Given the description of an element on the screen output the (x, y) to click on. 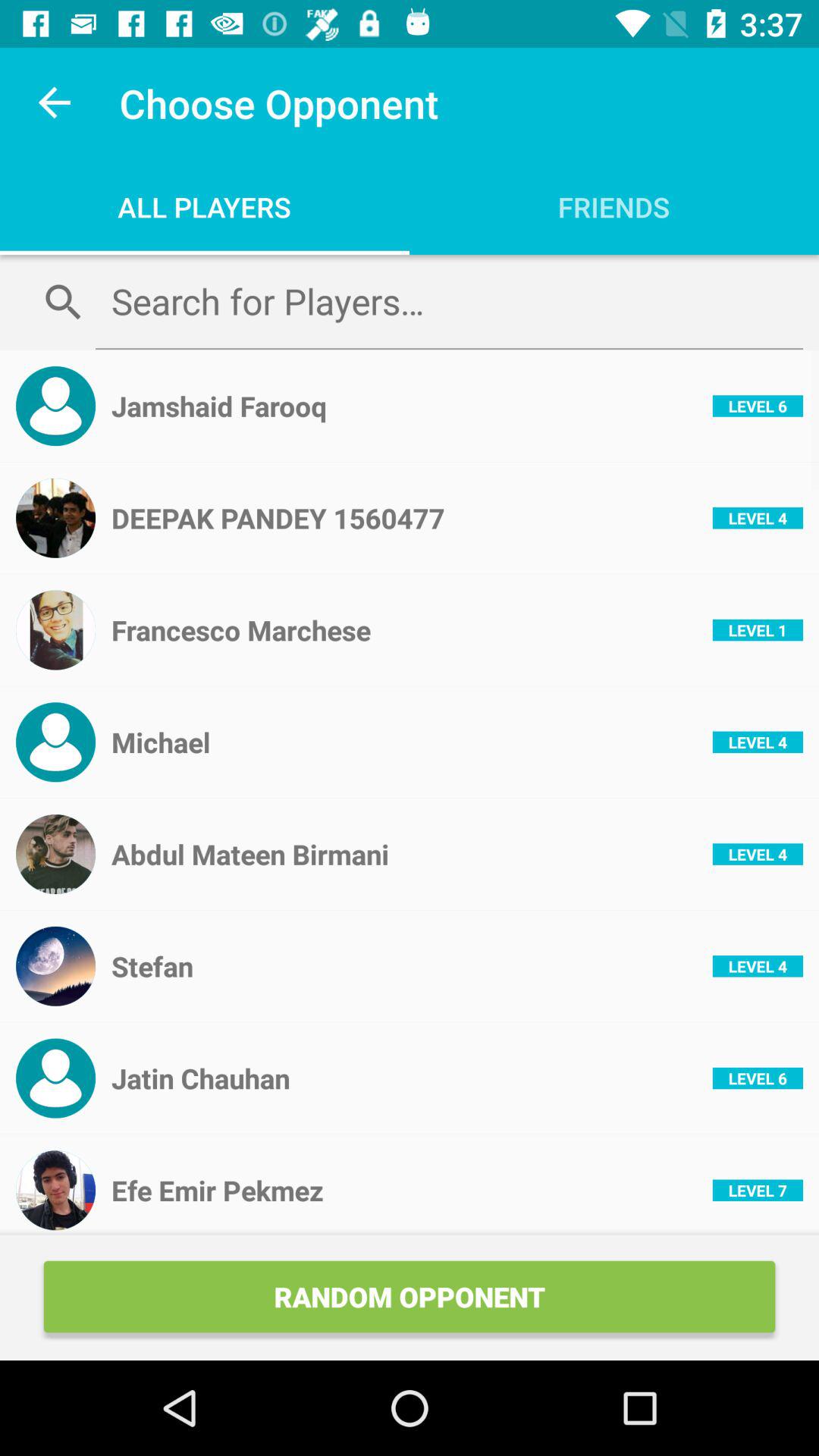
search for opponents (449, 301)
